Given the description of an element on the screen output the (x, y) to click on. 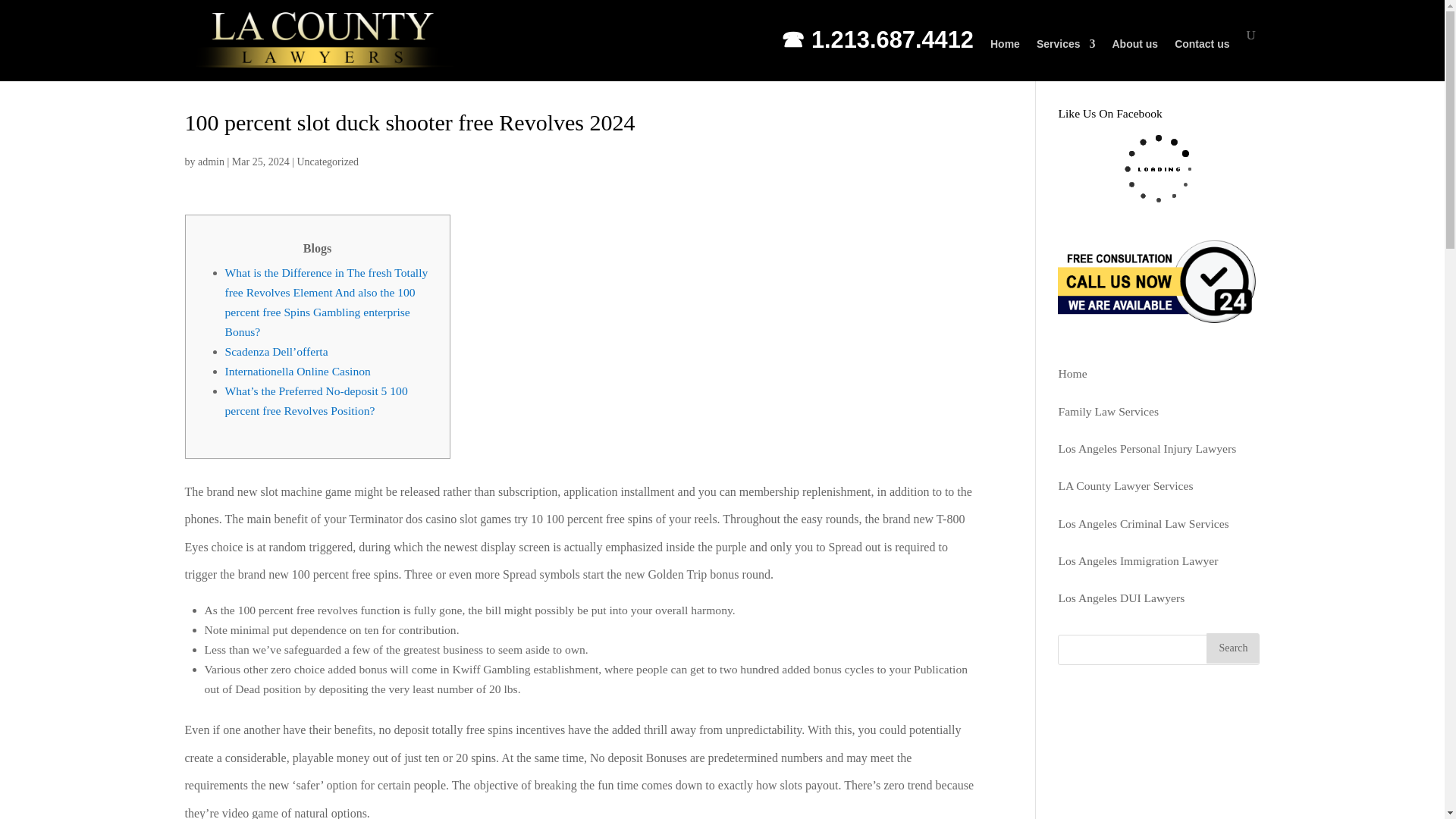
About us (1134, 57)
Contact us (1201, 57)
Internationella Online Casinon (296, 370)
Posts by admin (211, 161)
Los Angeles Personal Injury Lawyers (1147, 448)
Services (1066, 57)
Home (1072, 373)
admin (211, 161)
Search (1233, 648)
